Given the description of an element on the screen output the (x, y) to click on. 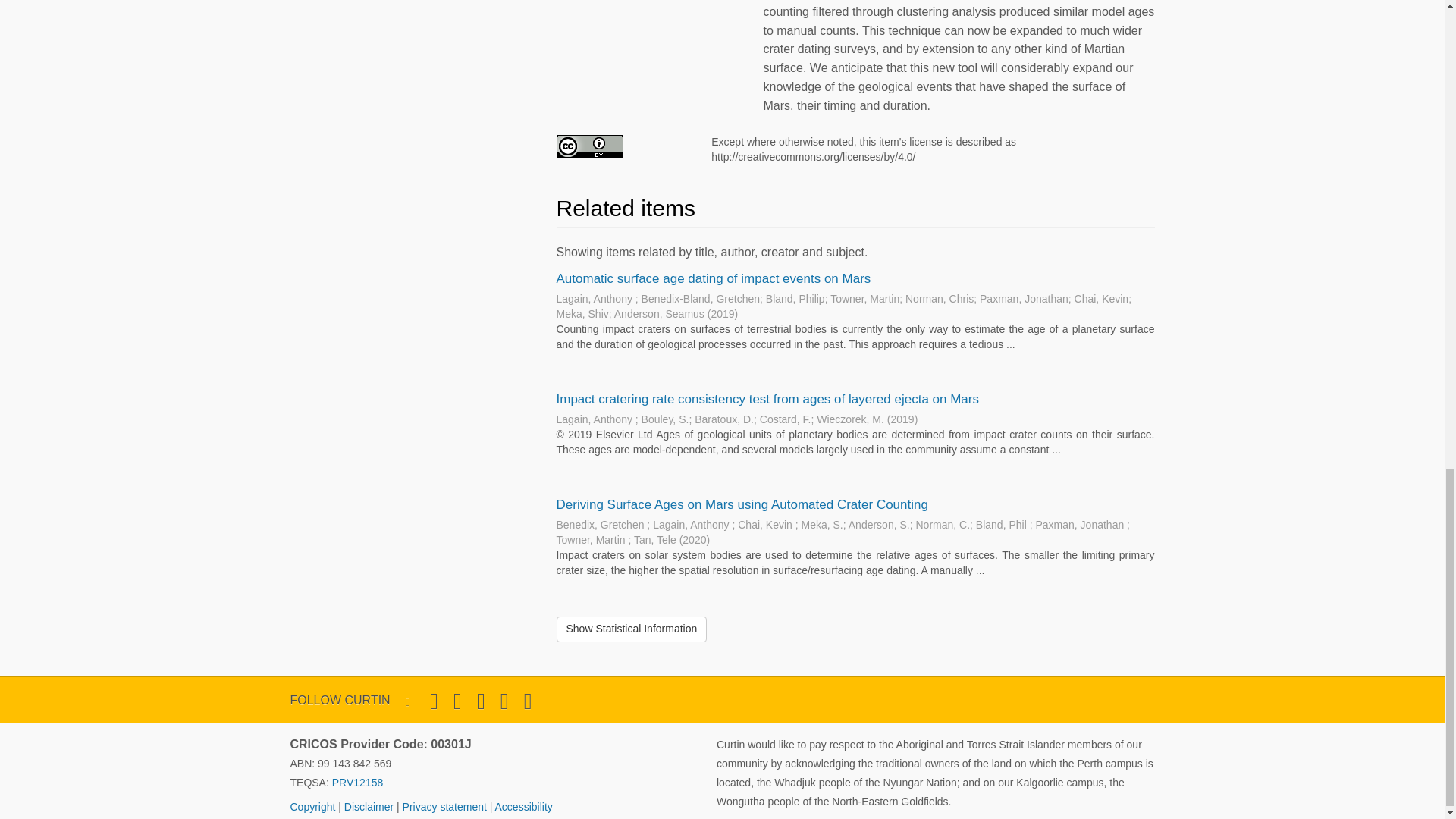
Show Statistical Information (631, 629)
Automatic surface age dating of impact events on Mars (713, 278)
